Given the description of an element on the screen output the (x, y) to click on. 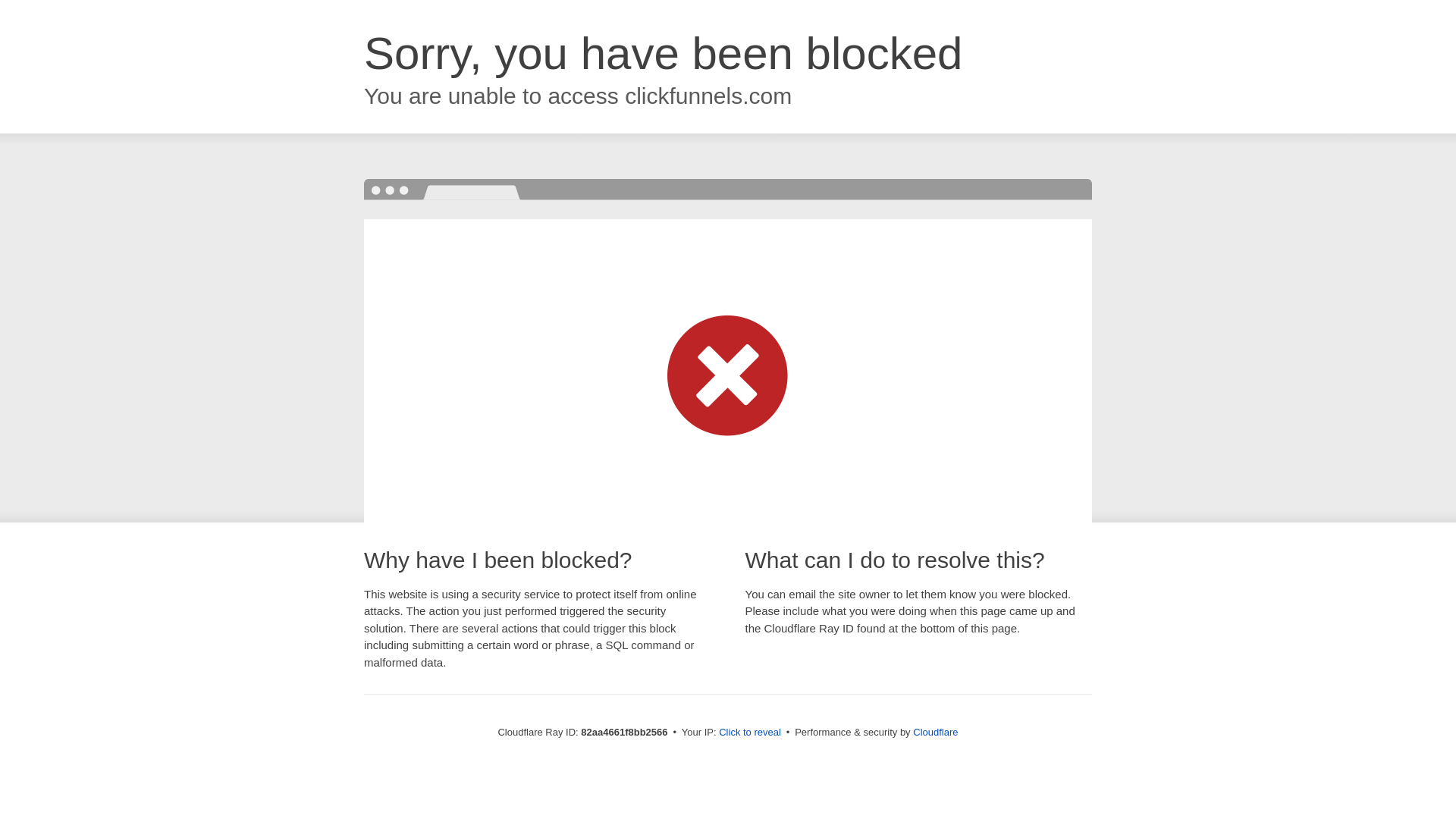
Click to reveal Element type: text (749, 732)
Cloudflare Element type: text (935, 731)
